Given the description of an element on the screen output the (x, y) to click on. 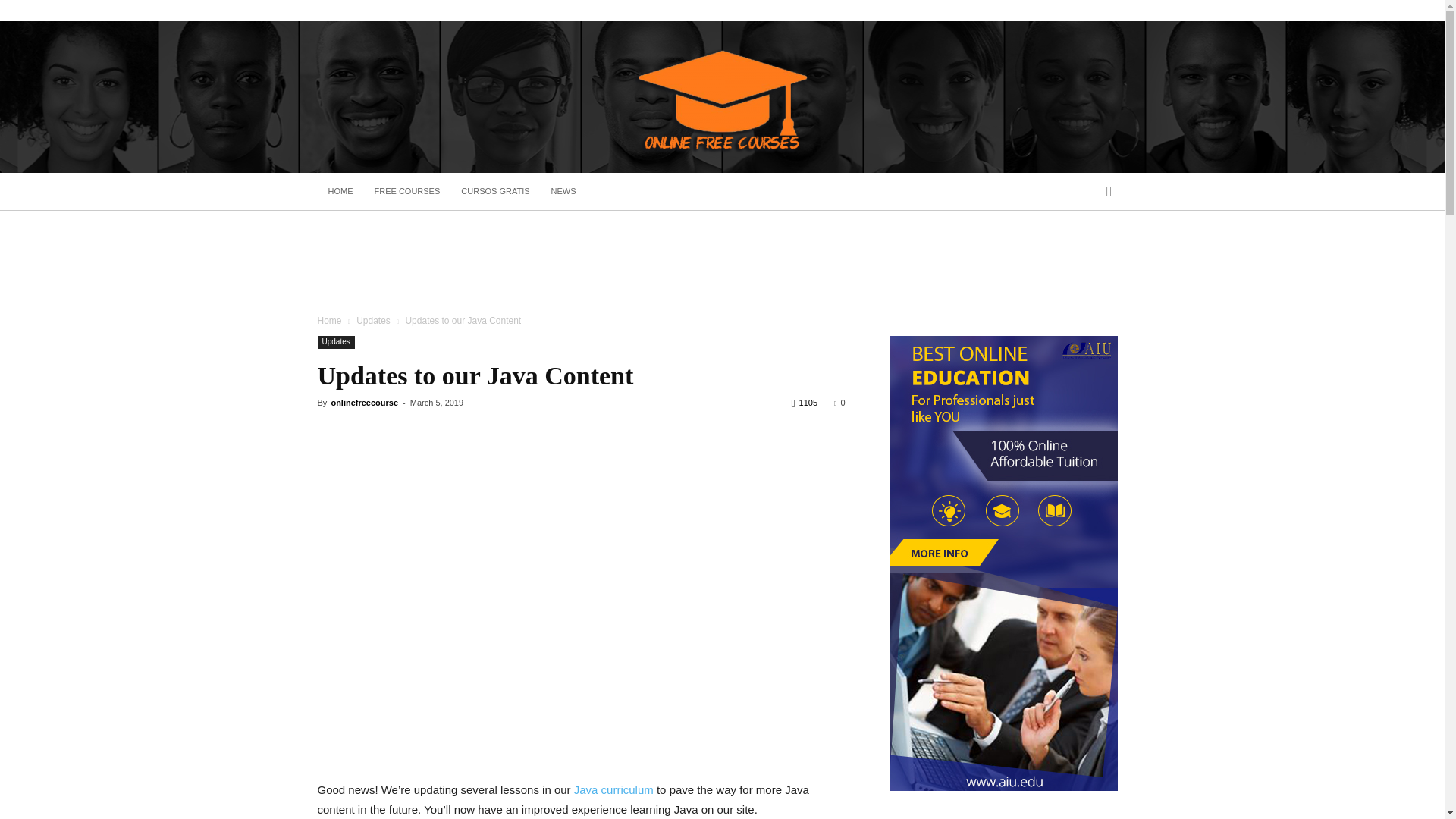
HOME (339, 190)
Updates (335, 341)
NEWS (563, 190)
Updates (373, 320)
FREE COURSES (407, 190)
CURSOS GRATIS (494, 190)
onlinefreecourse (363, 402)
Facebook (1114, 10)
0 (839, 402)
Advertisement (580, 741)
